Given the description of an element on the screen output the (x, y) to click on. 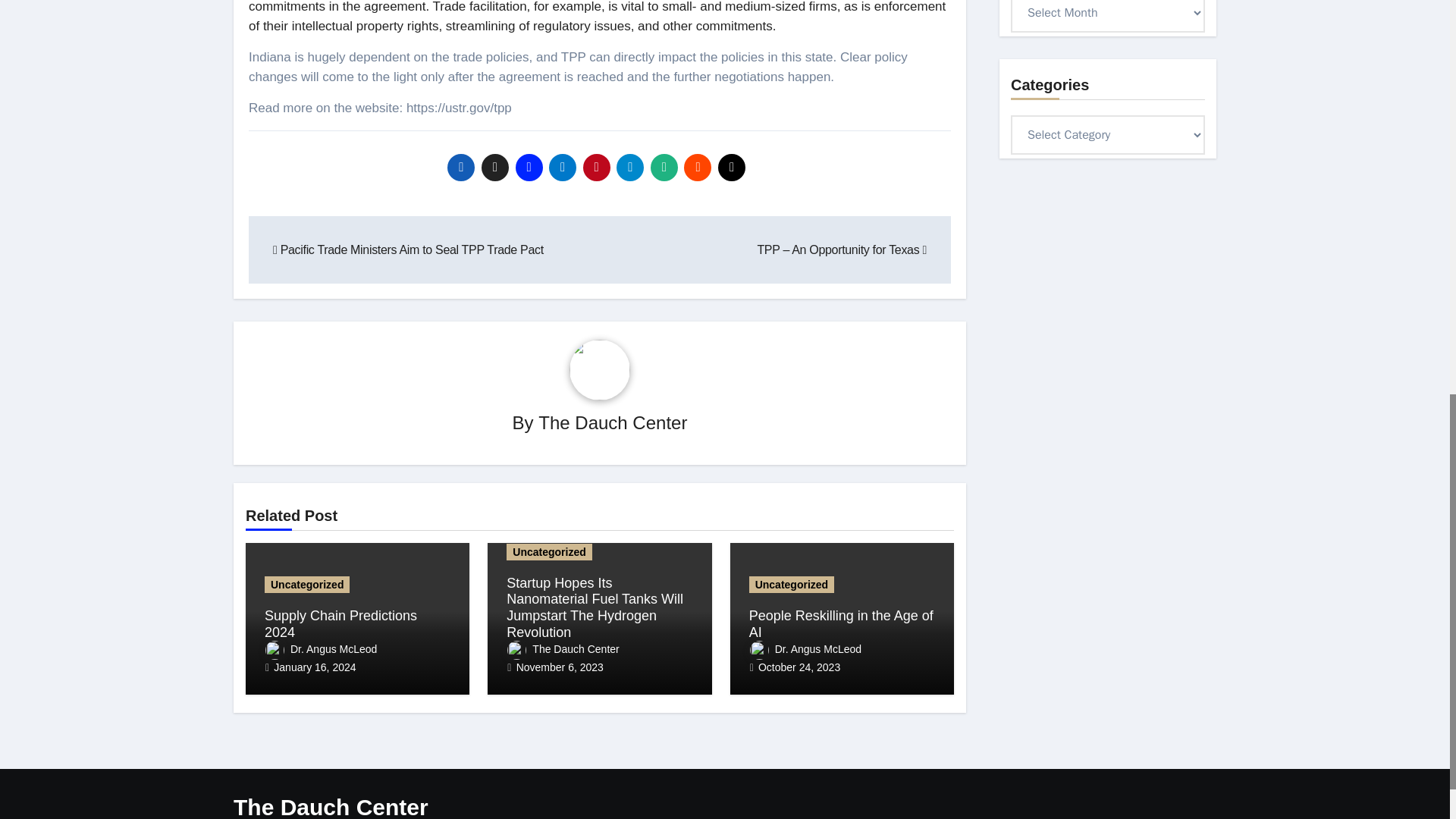
Uncategorized (548, 551)
Permalink to: People Reskilling in the Age of AI (841, 623)
Permalink to: Supply Chain Predictions 2024 (340, 623)
Pacific Trade Ministers Aim to Seal TPP Trade Pact (408, 249)
Dr. Angus McLeod (320, 648)
Supply Chain Predictions 2024 (340, 623)
The Dauch Center (562, 648)
January 16, 2024 (314, 666)
Uncategorized (306, 584)
The Dauch Center (612, 422)
